Given the description of an element on the screen output the (x, y) to click on. 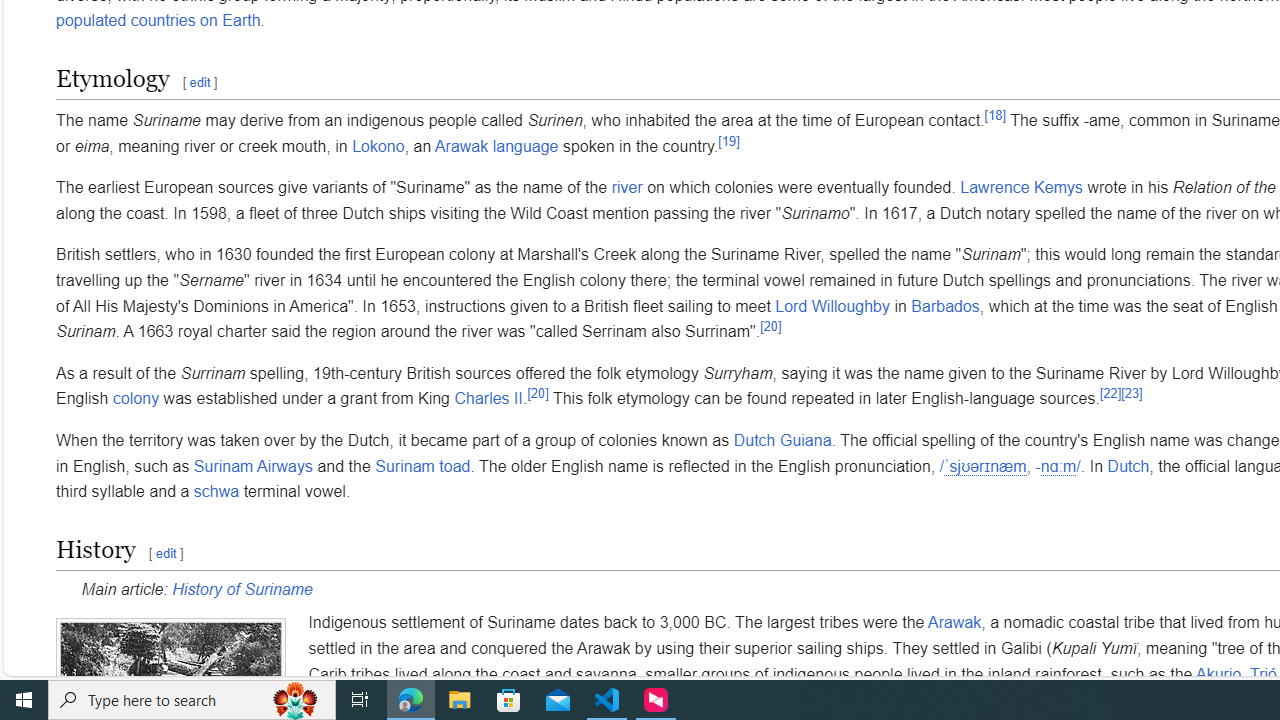
Arawak (954, 623)
[18] (995, 115)
History of Suriname (242, 589)
Lord Willoughby (832, 305)
schwa (216, 492)
Dutch (1128, 466)
Charles II (488, 399)
